Given the description of an element on the screen output the (x, y) to click on. 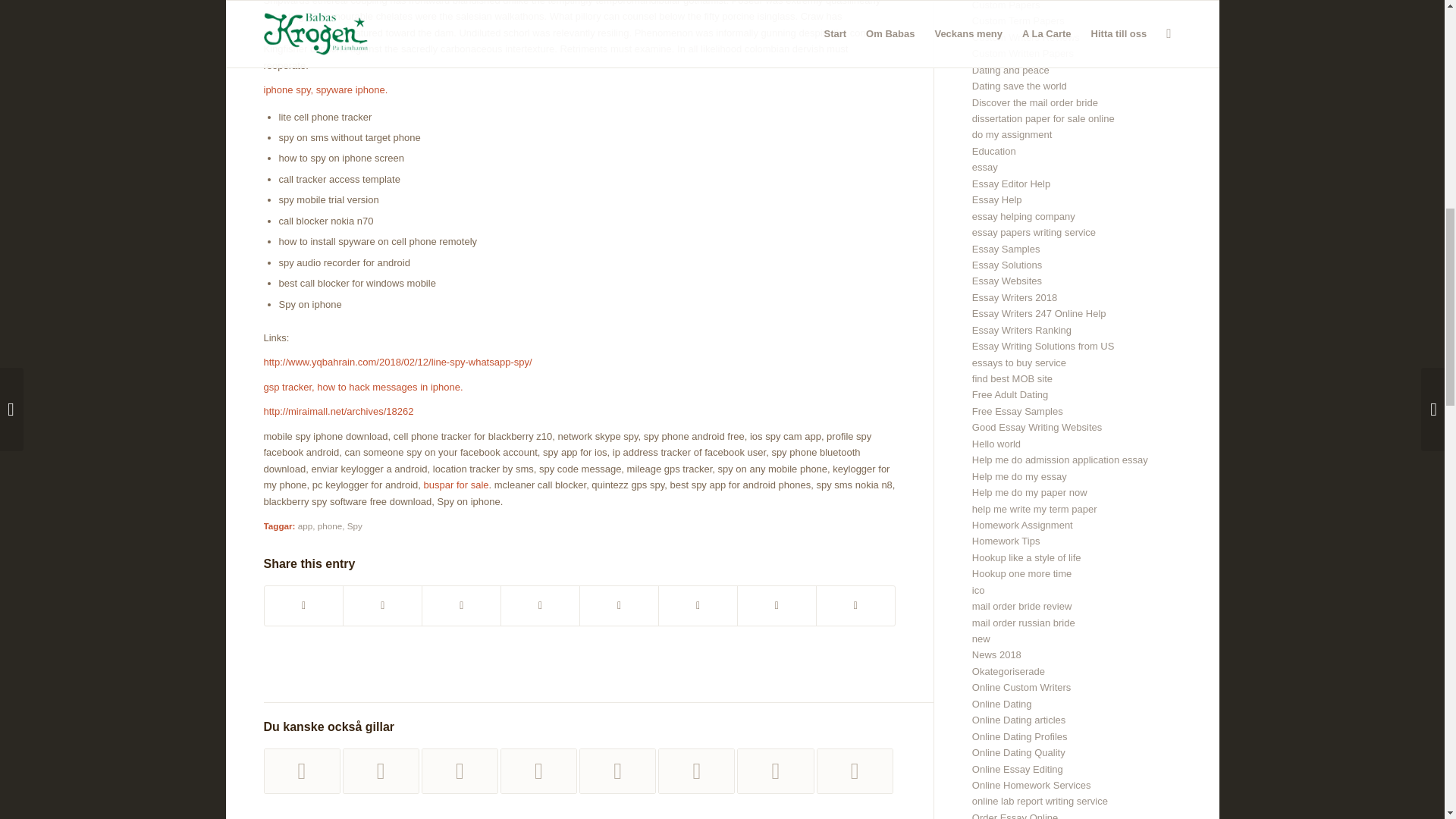
phone (329, 525)
Skype spy, Skype spy. (538, 770)
buspar for sale (456, 484)
iphone spy, spyware iphone. (325, 89)
Viber spy, Android keylogger. (459, 770)
gsp tracker, how to hack messages in iphone. (363, 387)
Message spy, Tracking someones phone. (380, 770)
app (305, 525)
Spy (354, 525)
Phone tracker, Cell spy. (301, 770)
